Given the description of an element on the screen output the (x, y) to click on. 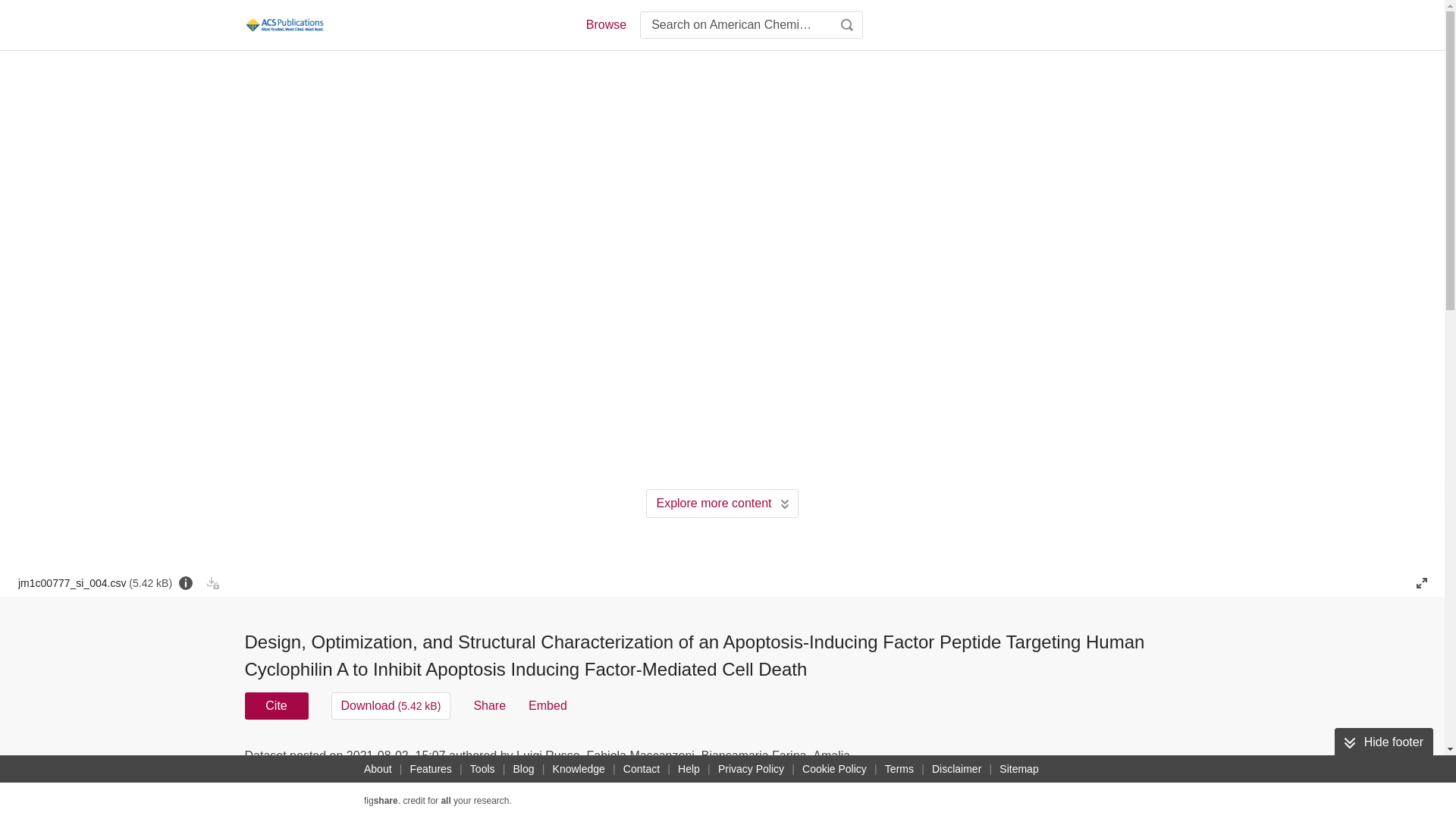
Share (489, 705)
Embed (547, 705)
Cite (275, 705)
Browse (605, 24)
Explore more content (721, 502)
USAGE METRICS (976, 759)
